Given the description of an element on the screen output the (x, y) to click on. 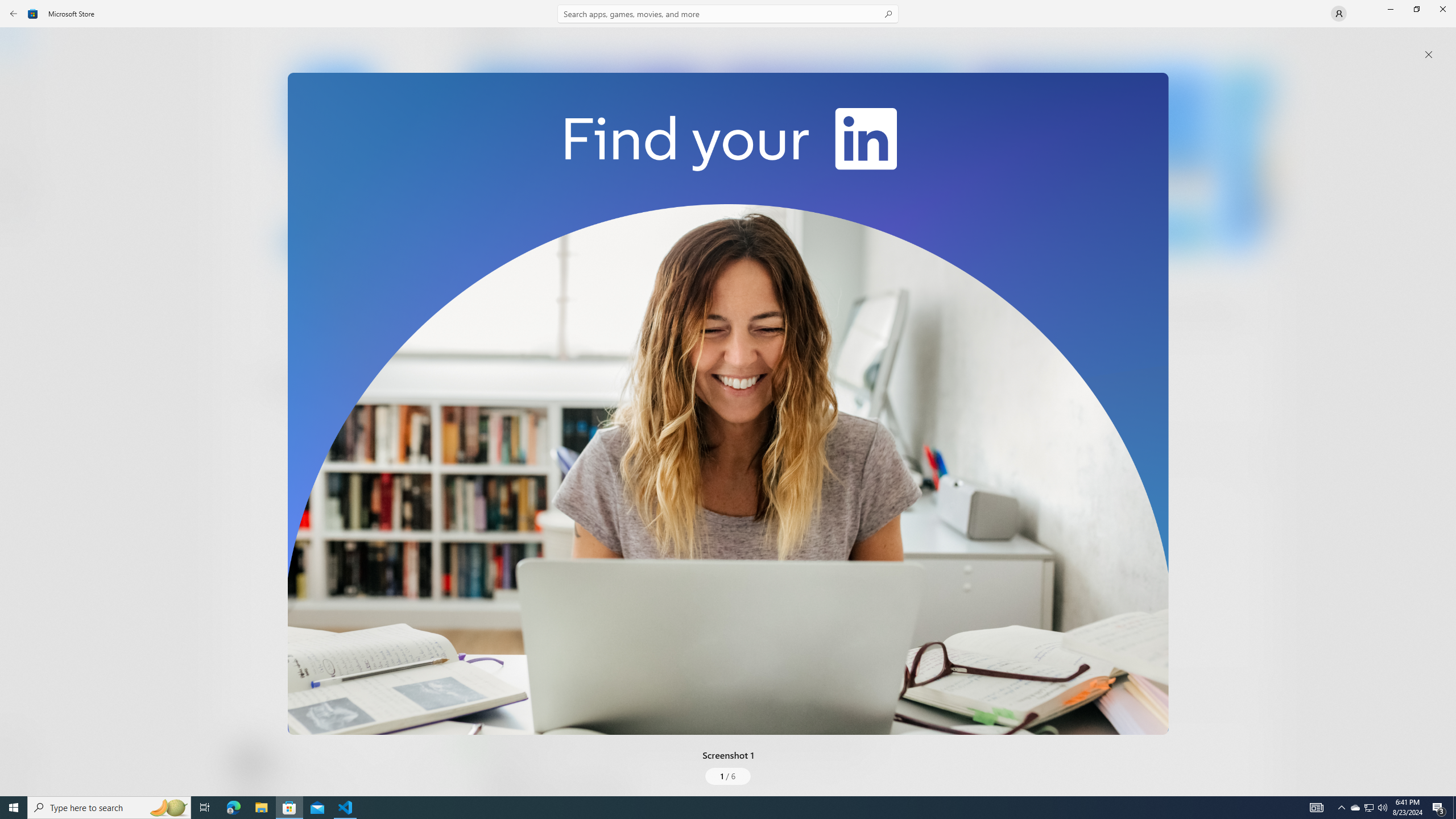
Age rating: TEEN. Click for more information. (276, 762)
Screenshot 1 (727, 403)
Share (424, 769)
close popup window (1428, 54)
Get (334, 241)
Show more (485, 426)
Screenshot 4 (1247, 158)
Show all ratings and reviews (477, 667)
Show all ratings and reviews (1253, 465)
